Given the description of an element on the screen output the (x, y) to click on. 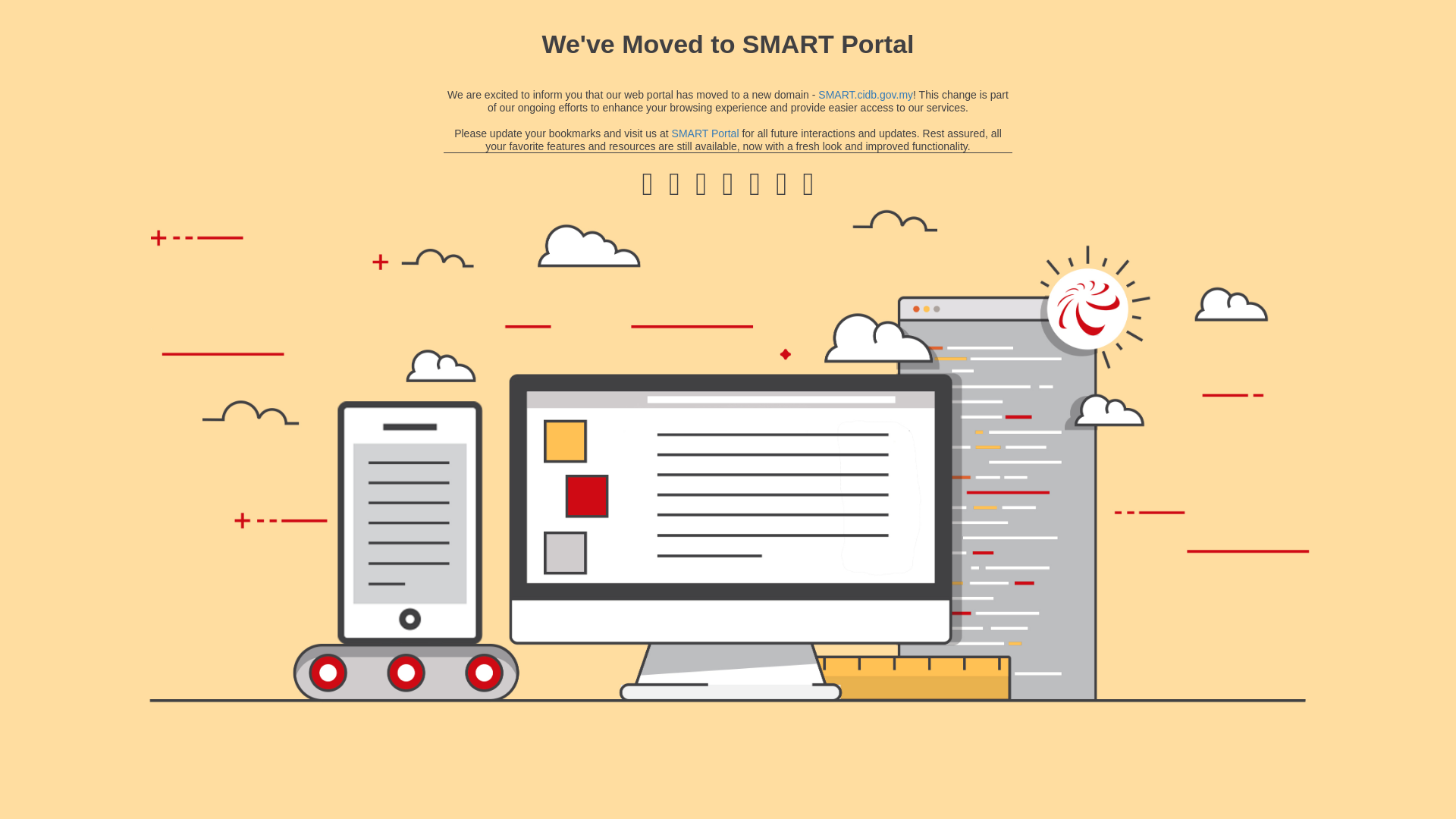
SMART Portal (705, 133)
SMART.cidb.gov.my (865, 94)
